Given the description of an element on the screen output the (x, y) to click on. 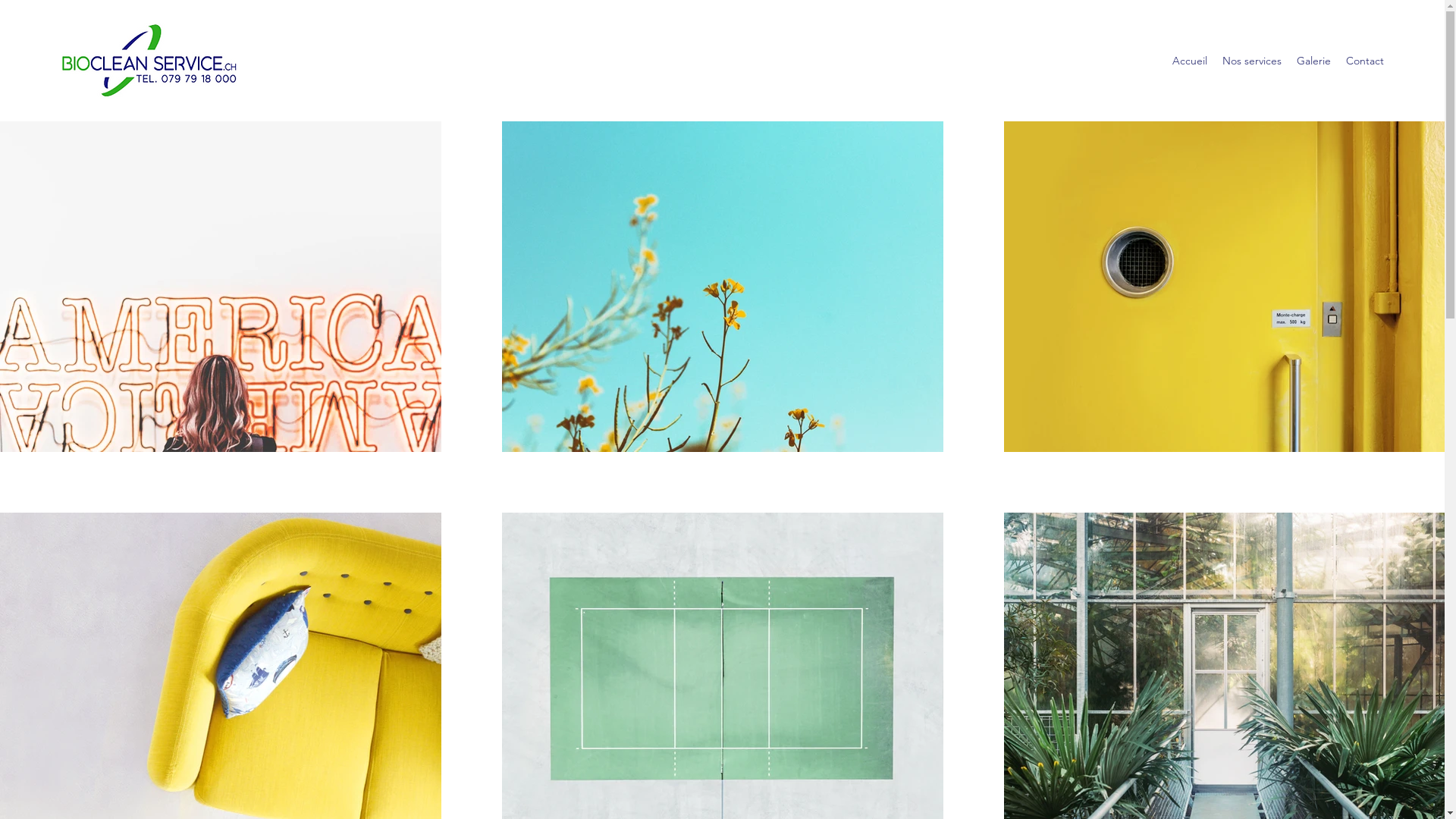
Contact Element type: text (1364, 60)
Nos services Element type: text (1251, 60)
Galerie Element type: text (1313, 60)
Accueil Element type: text (1189, 60)
